Given the description of an element on the screen output the (x, y) to click on. 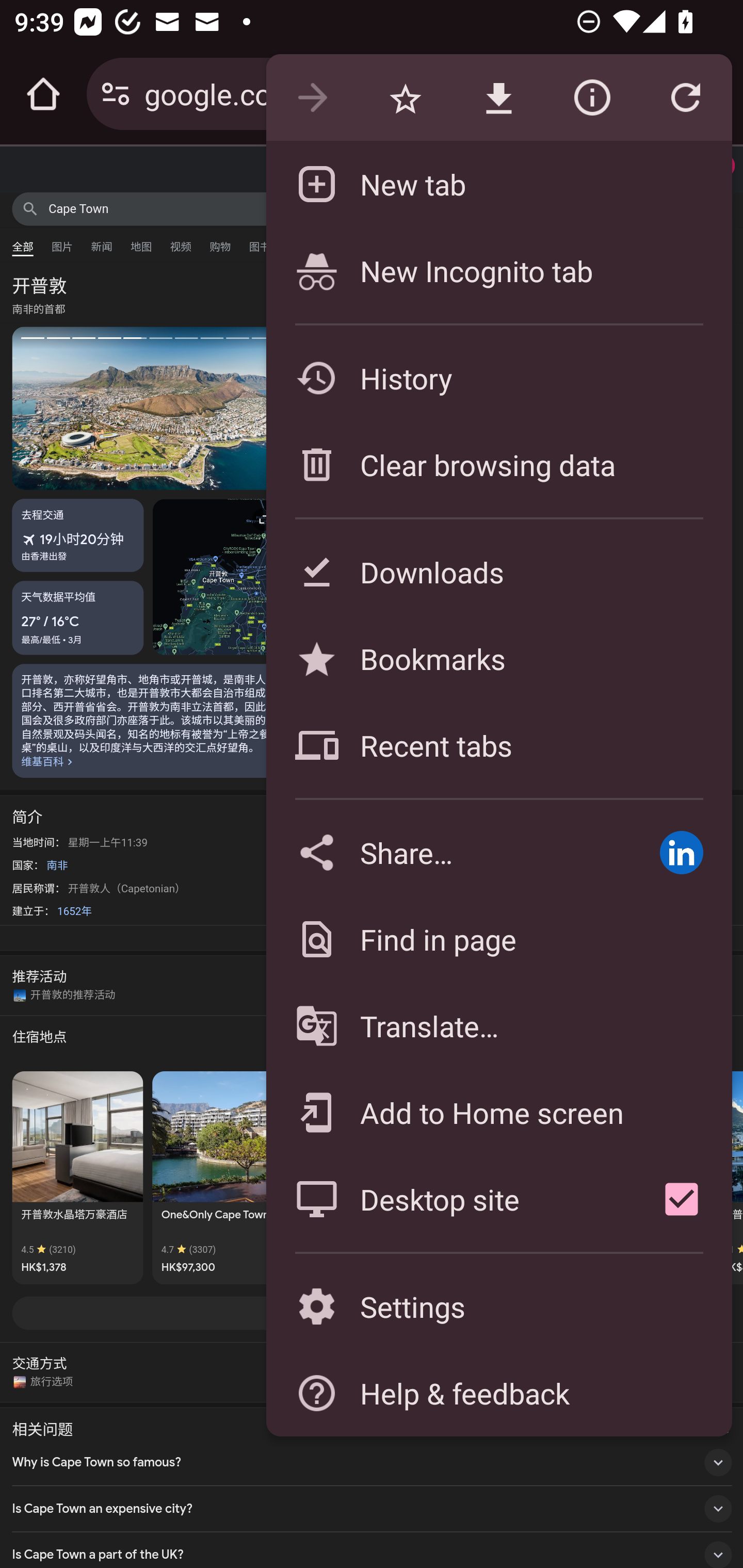
Forward (311, 97)
Bookmark (404, 97)
Download (498, 97)
Page info (591, 97)
Refresh (684, 97)
New tab (498, 184)
New Incognito tab (498, 270)
History (498, 377)
Clear browsing data (498, 464)
Downloads (498, 571)
Bookmarks (498, 658)
Recent tabs (498, 745)
Share… (447, 852)
Share via Share in a post (680, 852)
Find in page (498, 939)
Translate… (498, 1026)
Add to Home screen (498, 1112)
Desktop site Turn off Request desktop site (447, 1198)
Settings (498, 1306)
Help & feedback (498, 1393)
